Given the description of an element on the screen output the (x, y) to click on. 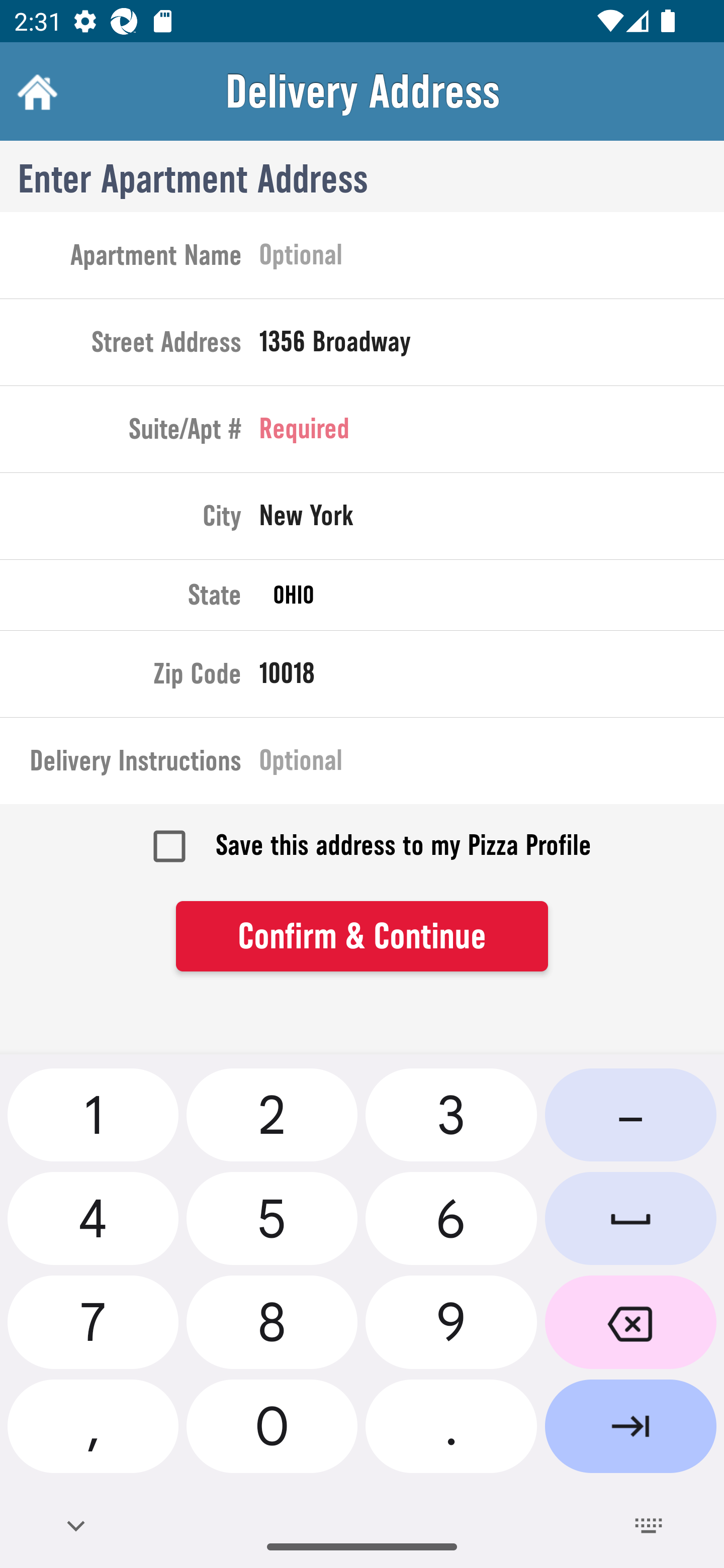
Home (35, 91)
Optional (491, 258)
1356 Broadway (491, 345)
Required (491, 432)
New York (491, 519)
OHIO (491, 594)
10018 (491, 677)
Optional (491, 764)
Confirm & Continue (361, 936)
